Given the description of an element on the screen output the (x, y) to click on. 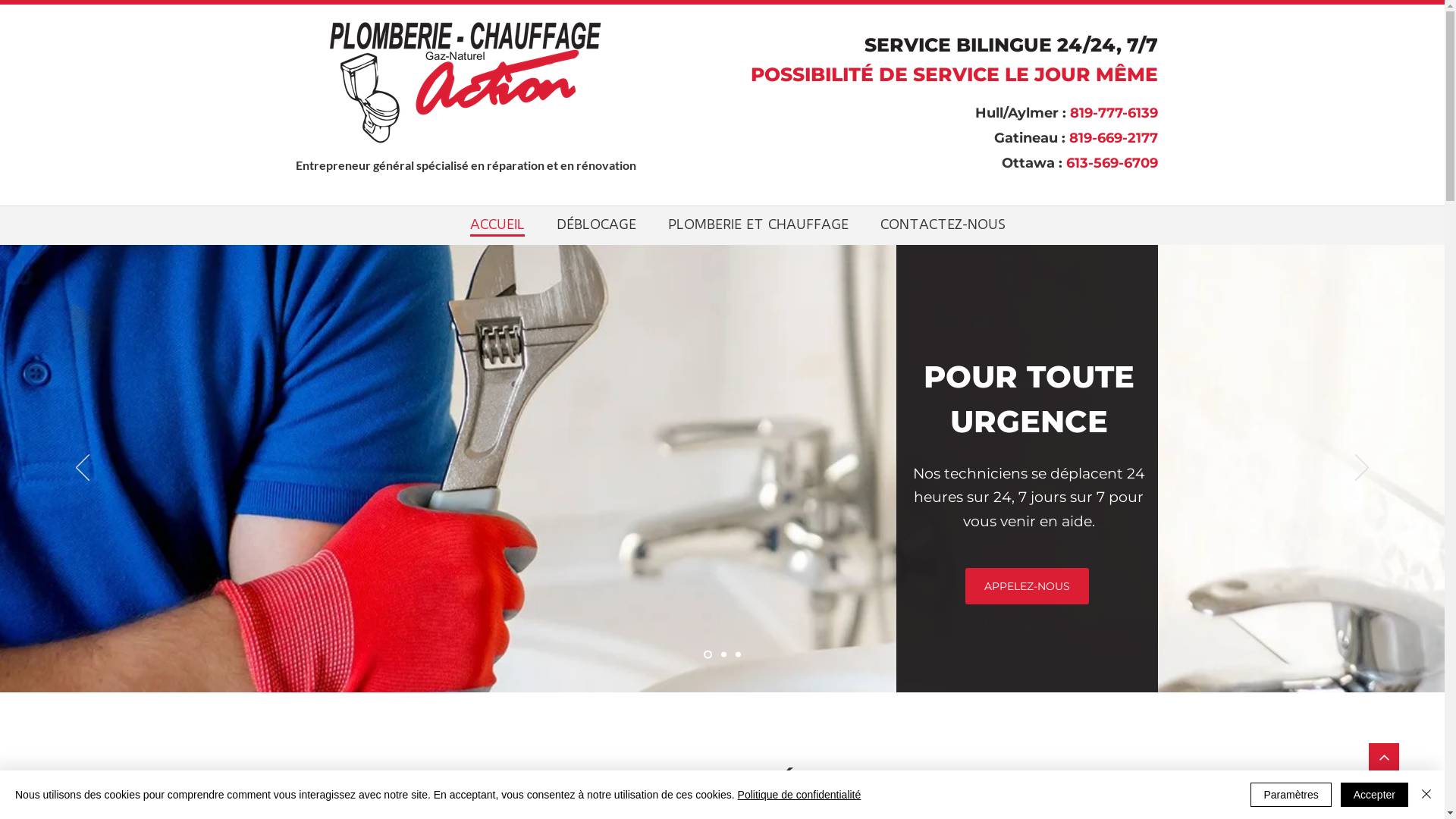
819-777-6139 Element type: text (1113, 112)
APPELEZ-NOUS Element type: text (1026, 585)
Accepter Element type: text (1374, 794)
613-569-6709 Element type: text (1111, 162)
PLOMBERIE ET CHAUFFAGE Element type: text (758, 223)
CONTACTEZ-NOUS Element type: text (942, 223)
819-669-2177 Element type: text (1113, 137)
ACCUEIL Element type: text (497, 223)
